Given the description of an element on the screen output the (x, y) to click on. 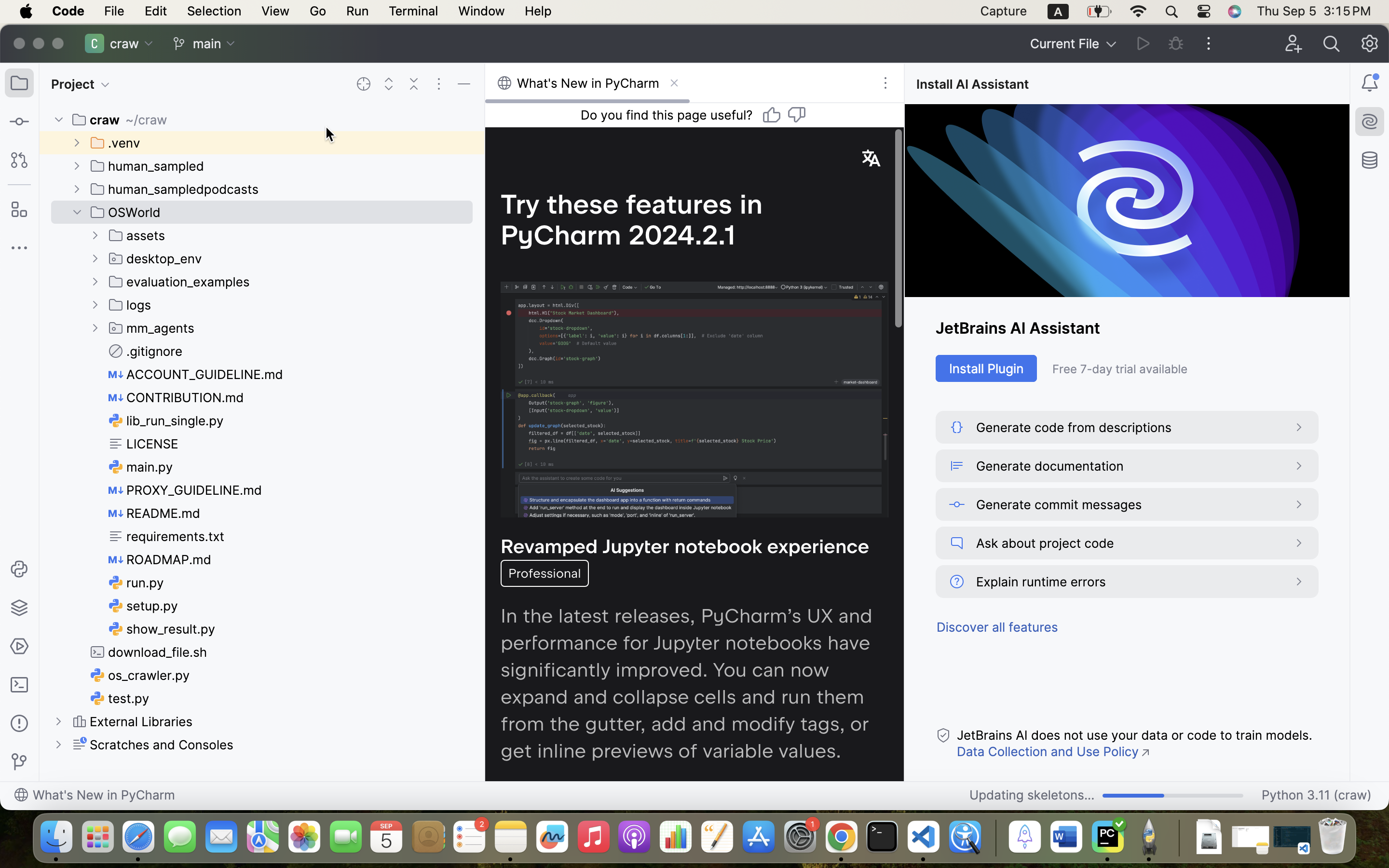
README.md Element type: AXStaticText (154, 512)
Free 7-day trial available Element type: AXTextField (1185, 368)
Updating skeletons... Element type: AXStaticText (739, 715)
0.4285714328289032 Element type: AXDockItem (993, 837)
show_result.py Element type: AXStaticText (161, 628)
